Given the description of an element on the screen output the (x, y) to click on. 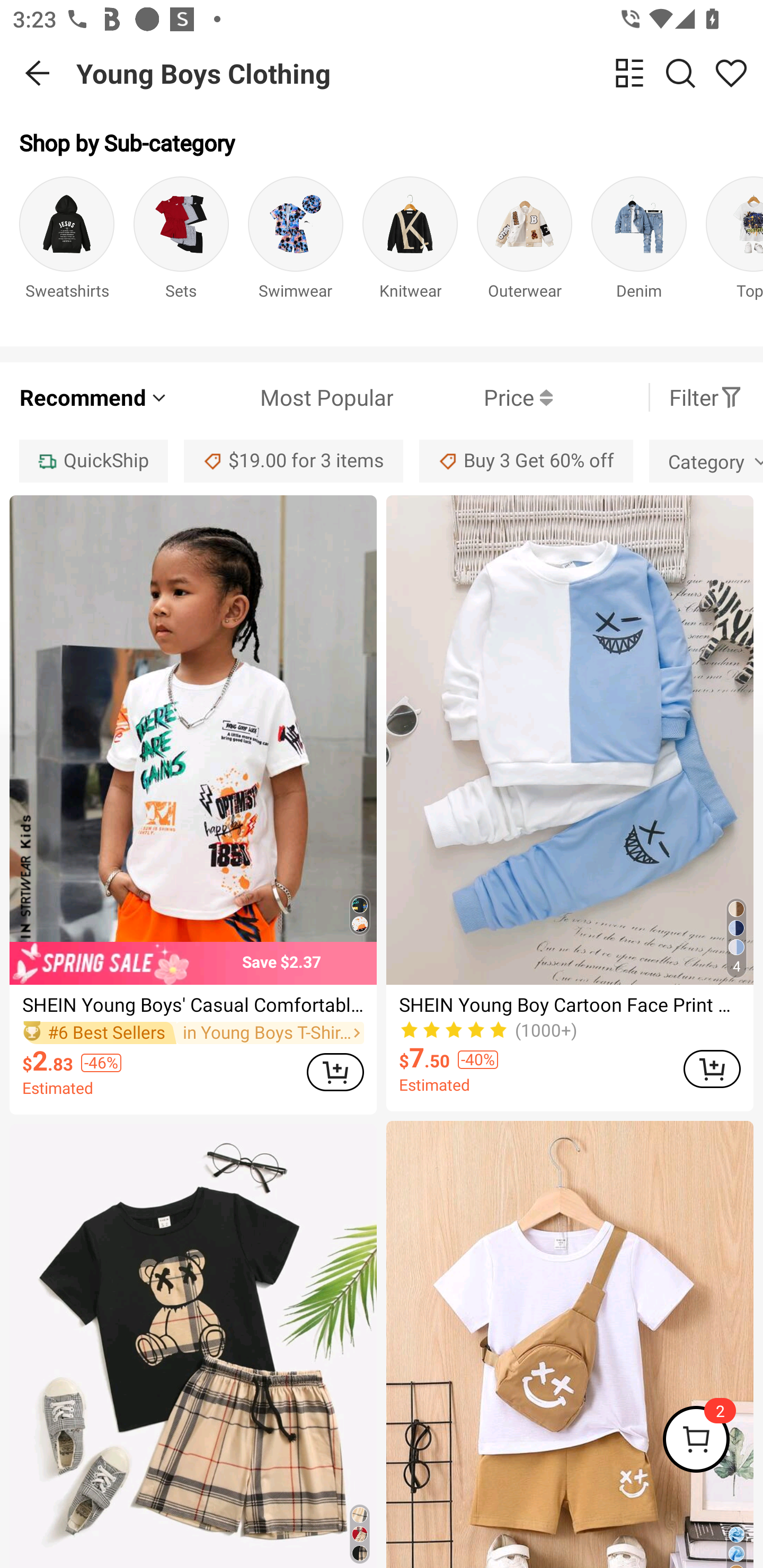
Young Boys Clothing change view Search Share (419, 72)
change view (629, 72)
Search (679, 72)
Share (730, 72)
Sweatshirts (66, 251)
Sets (180, 251)
Swimwear (295, 251)
Knitwear (409, 251)
Outerwear (524, 251)
Denim (638, 251)
Recommend (94, 397)
Most Popular (280, 397)
Price (472, 397)
Filter (705, 397)
QuickShip (93, 460)
$19.00 for 3 items (292, 460)
Buy 3 Get 60% off (525, 460)
Category (706, 460)
#6 Best Sellers in Young Boys T-Shirts (192, 1032)
ADD TO CART (711, 1069)
ADD TO CART (334, 1072)
SHEIN Young Boy Cartoon Graphic Tee & Shorts & Bag (569, 1344)
